Given the description of an element on the screen output the (x, y) to click on. 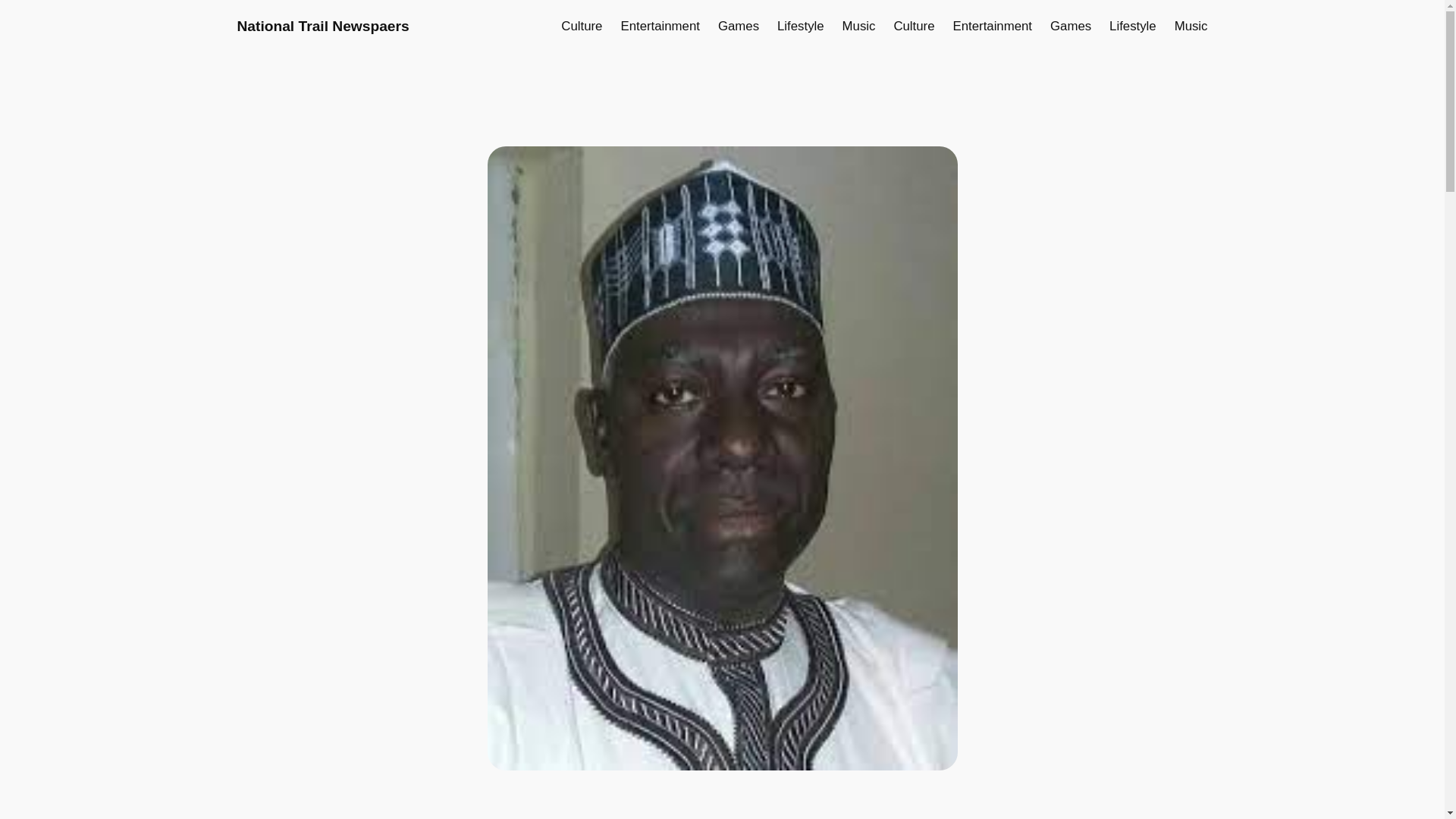
Music (859, 26)
Culture (913, 26)
National Trail Newspaers (322, 26)
Games (737, 26)
Music (1191, 26)
Lifestyle (800, 26)
Lifestyle (1132, 26)
Entertainment (659, 26)
Games (1069, 26)
Culture (581, 26)
Entertainment (992, 26)
